Given the description of an element on the screen output the (x, y) to click on. 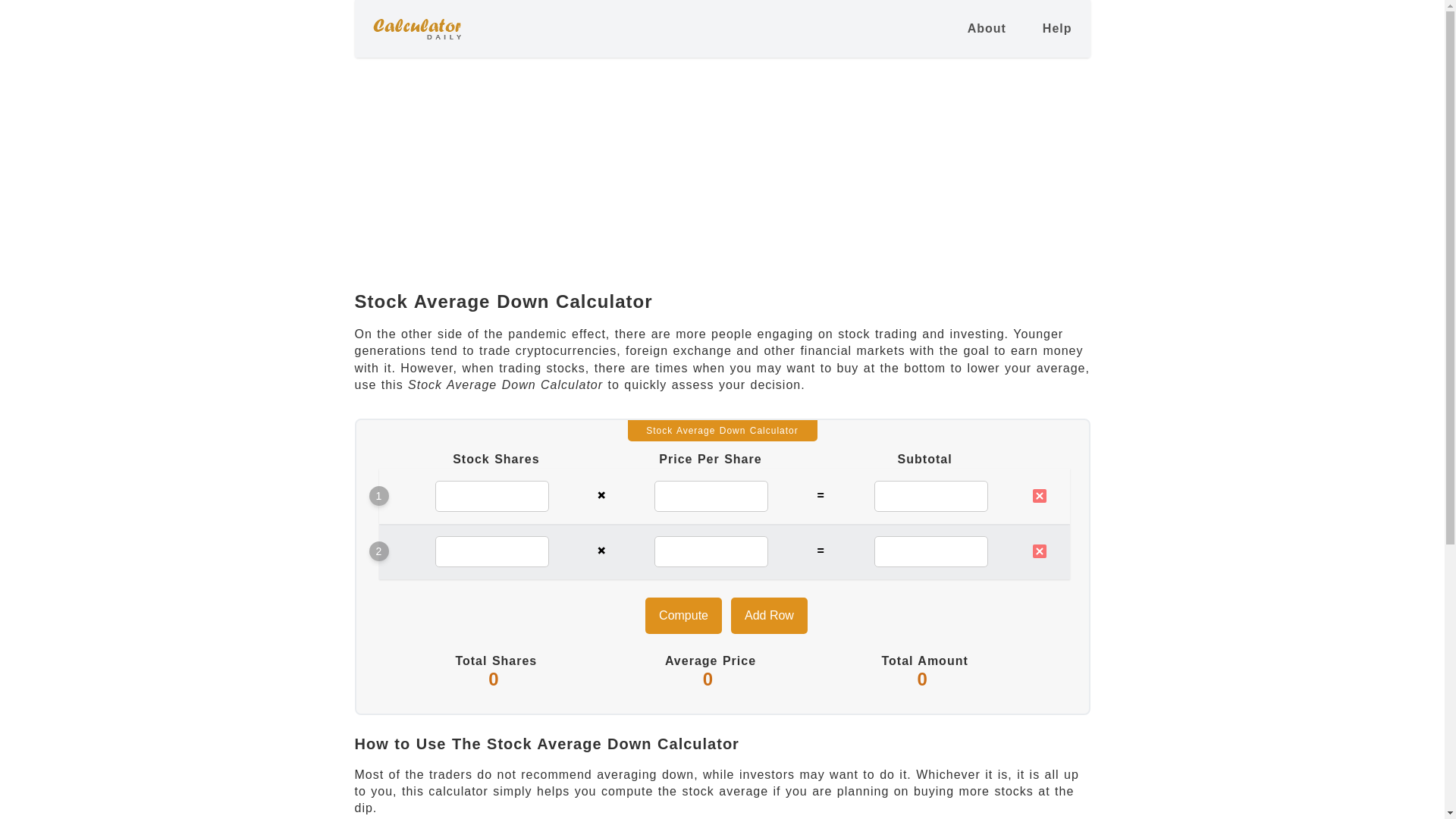
Compute (683, 615)
Help (1057, 28)
Add Row (769, 615)
About (987, 28)
